Given the description of an element on the screen output the (x, y) to click on. 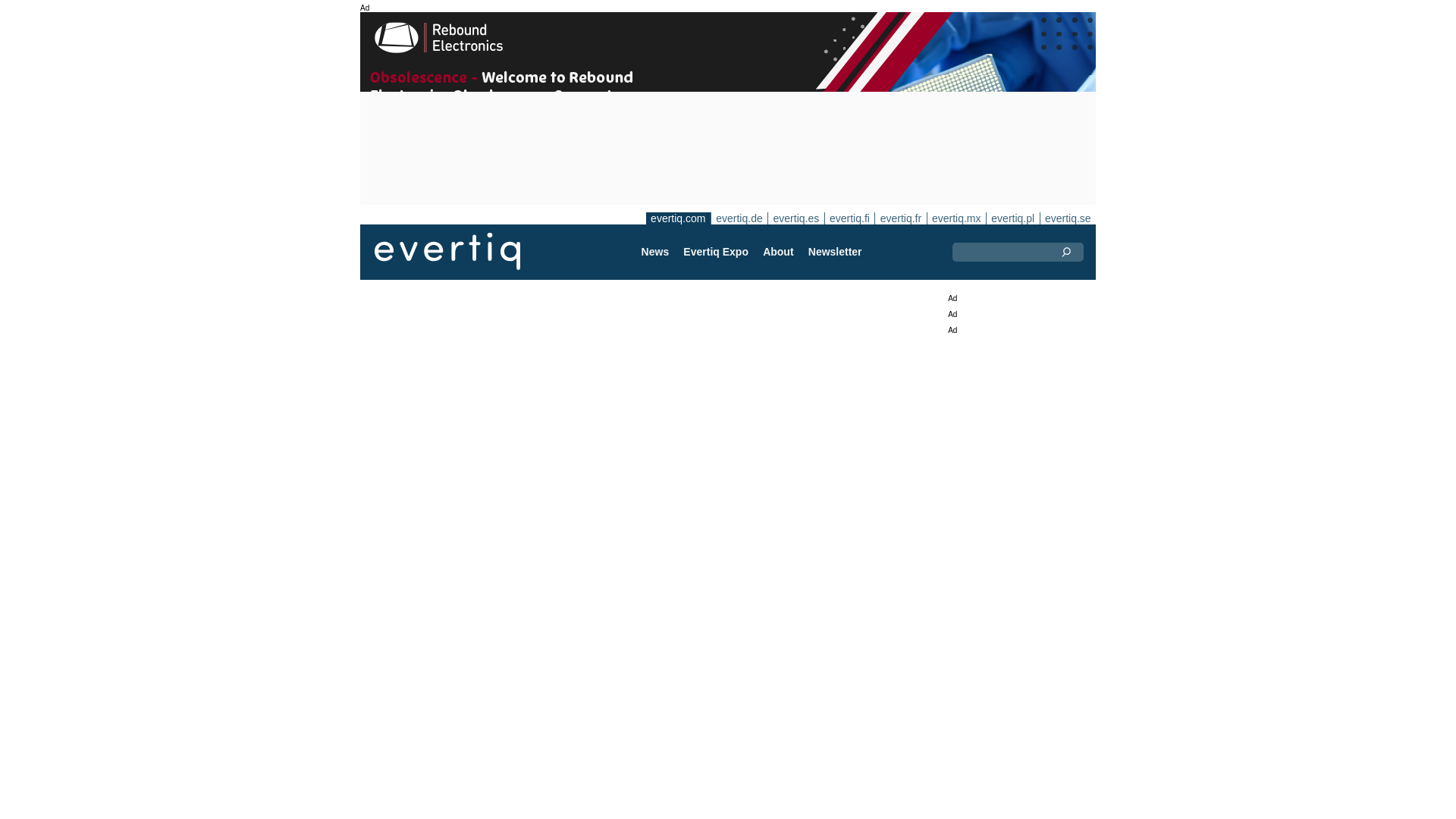
evertiq.mx (955, 218)
Evertiq Expo (716, 252)
evertiq.com (678, 218)
Newsletter (834, 252)
evertiq.fi (849, 218)
evertiq.de (738, 218)
evertiq.se (1067, 218)
evertiq.pl (1012, 218)
evertiq.es (795, 218)
About (778, 252)
Evertiq AB (446, 251)
News (655, 252)
evertiq.fr (900, 218)
